Given the description of an element on the screen output the (x, y) to click on. 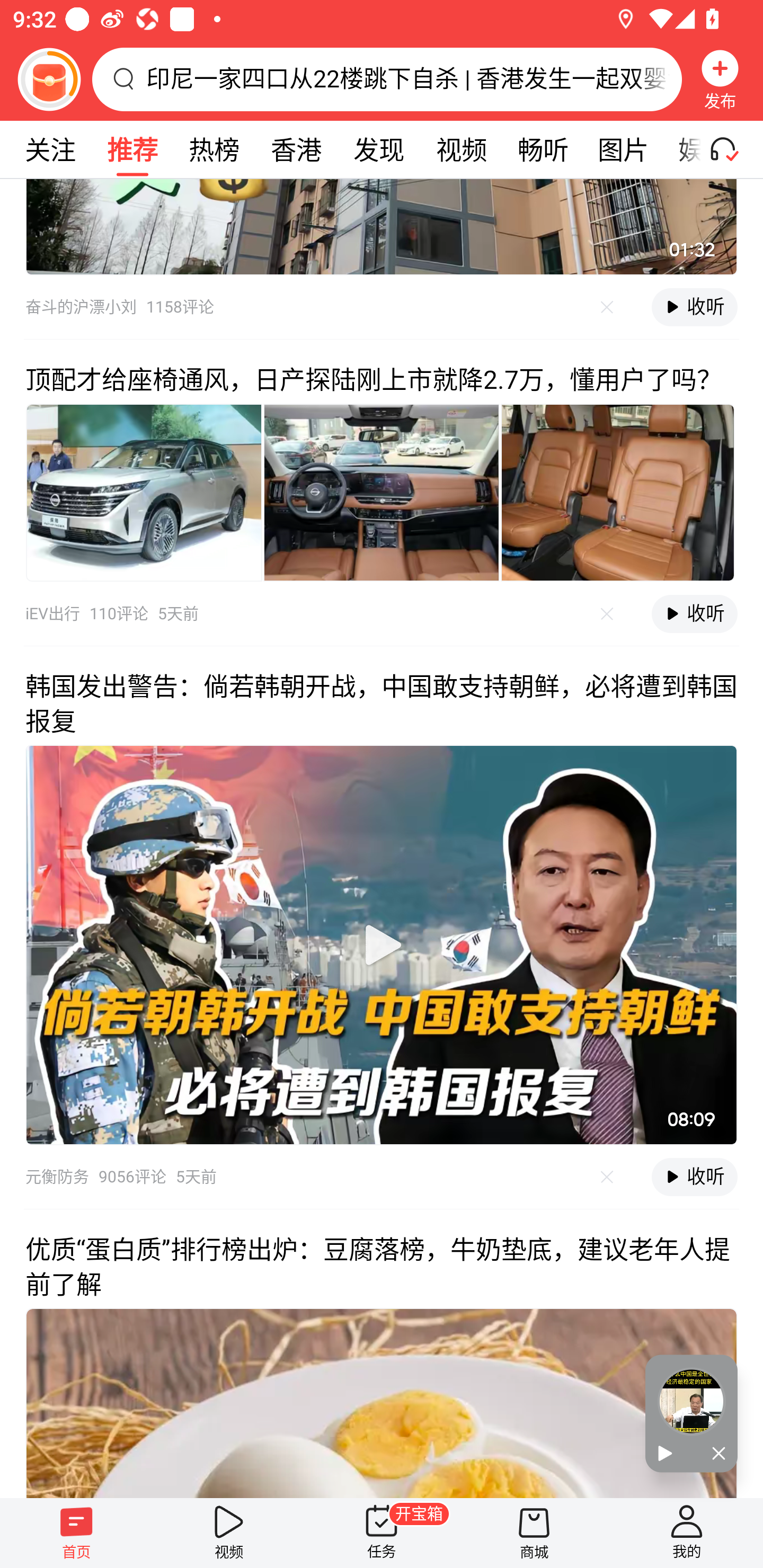
阅读赚金币 (48, 79)
发布 发布，按钮 (720, 78)
关注 (50, 149)
推荐 (132, 149)
热榜 (213, 149)
香港 (295, 149)
发现 (378, 149)
视频 (461, 149)
畅听 (542, 149)
图片 (623, 149)
听一听开关 (732, 149)
视频播放器，双击屏幕打开播放控制 作者为  奋斗的沪漂小刘  1158评论   不感兴趣 收听 (381, 258)
视频播放器，双击屏幕打开播放控制 (381, 226)
收听 (694, 307)
不感兴趣 (607, 307)
内容图片 (143, 491)
内容图片 (381, 491)
内容图片 (617, 491)
收听 (694, 613)
不感兴趣 (607, 614)
播放视频 视频播放器，双击屏幕打开播放控制 (381, 944)
播放视频 (381, 944)
收听 (694, 1177)
不感兴趣 (607, 1177)
优质“蛋白质”排行榜出炉：豆腐落榜，牛奶垫底，建议老年人提前了解 (381, 1352)
当前进度 0% 播放 关闭 (691, 1413)
播放 (668, 1454)
关闭 (714, 1454)
首页 (76, 1532)
视频 (228, 1532)
任务 开宝箱 (381, 1532)
商城 (533, 1532)
我的 (686, 1532)
